Given the description of an element on the screen output the (x, y) to click on. 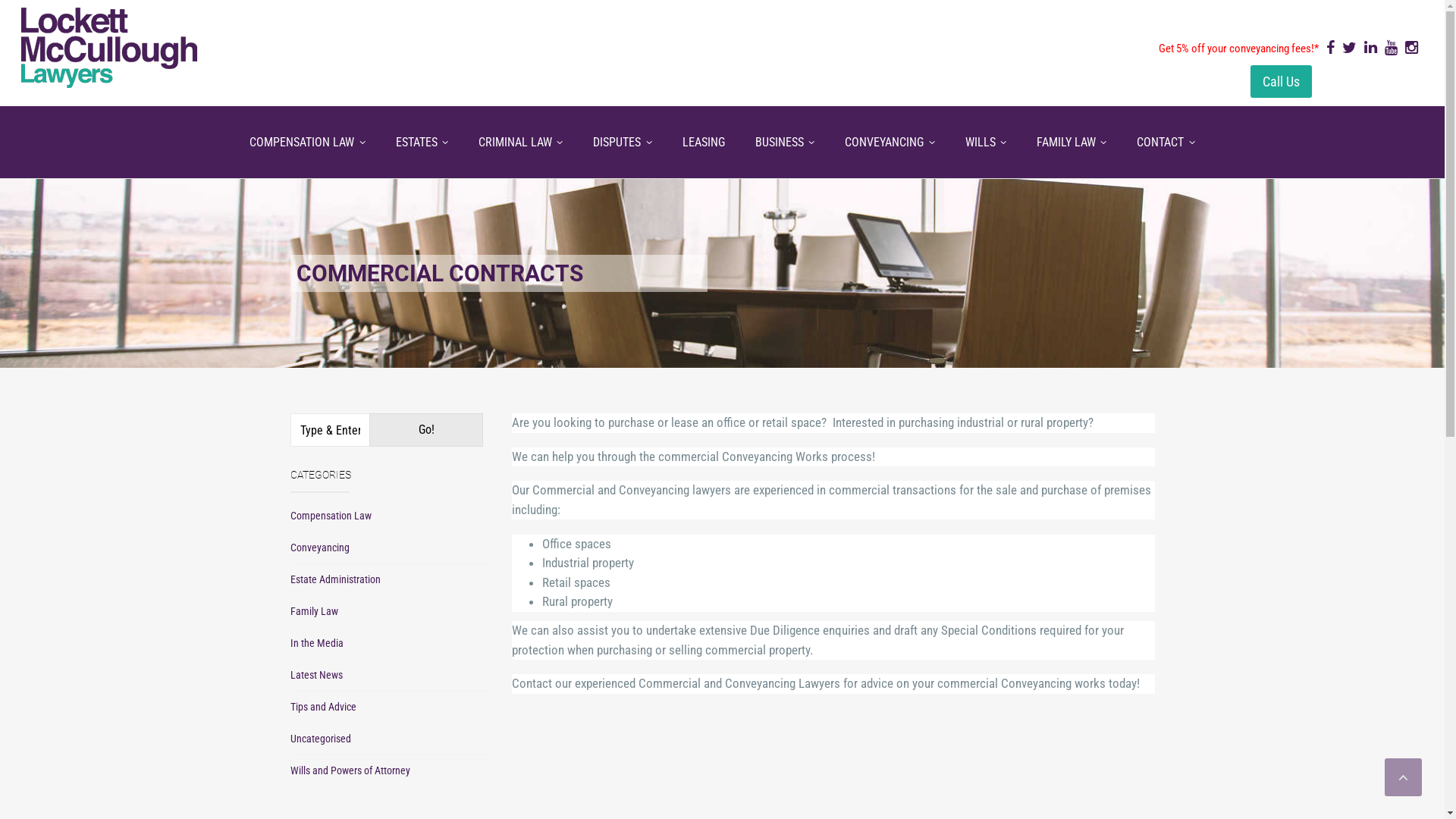
Go! Element type: text (426, 429)
CRIMINAL LAW Element type: text (520, 141)
CONVEYANCING Element type: text (889, 141)
FAMILY LAW Element type: text (1071, 141)
CONTACT Element type: text (1165, 141)
Latest News Element type: text (315, 674)
Conveyancing Element type: text (318, 547)
LEASING Element type: text (703, 141)
WILLS Element type: text (985, 141)
COMPENSATION LAW Element type: text (306, 141)
Wills and Powers of Attorney Element type: text (349, 770)
Tips and Advice Element type: text (322, 706)
In the Media Element type: text (315, 643)
BUSINESS Element type: text (784, 141)
Call Us Element type: text (1280, 81)
ESTATES Element type: text (421, 141)
Compensation Law Element type: text (329, 515)
Get 5% off your conveyancing fees!* Element type: text (1238, 48)
Family Law Element type: text (313, 611)
DISPUTES Element type: text (622, 141)
Estate Administration Element type: text (334, 579)
Uncategorised Element type: text (319, 738)
